Given the description of an element on the screen output the (x, y) to click on. 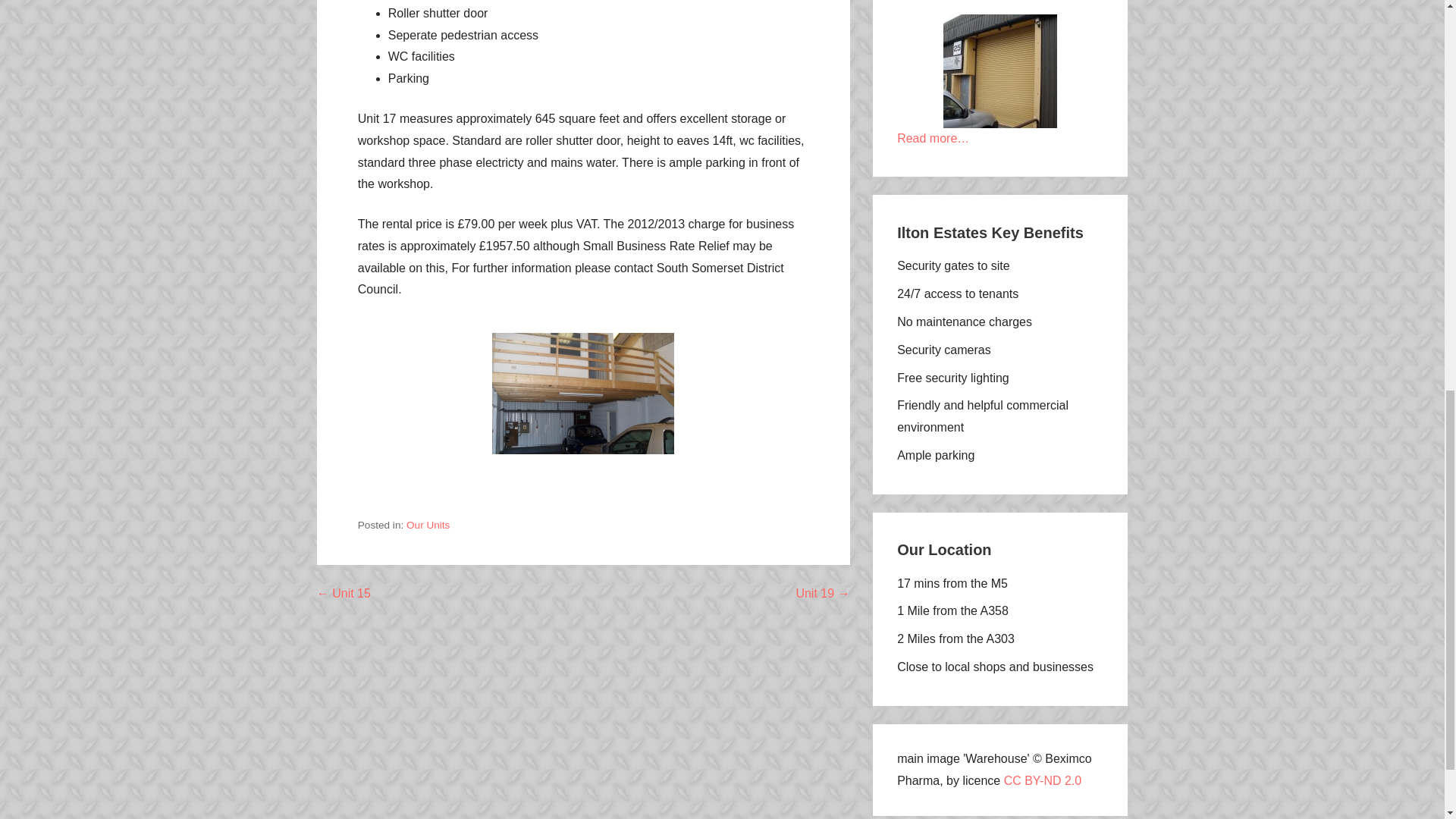
Our Units (427, 524)
CC BY-ND 2.0 (1042, 780)
